Given the description of an element on the screen output the (x, y) to click on. 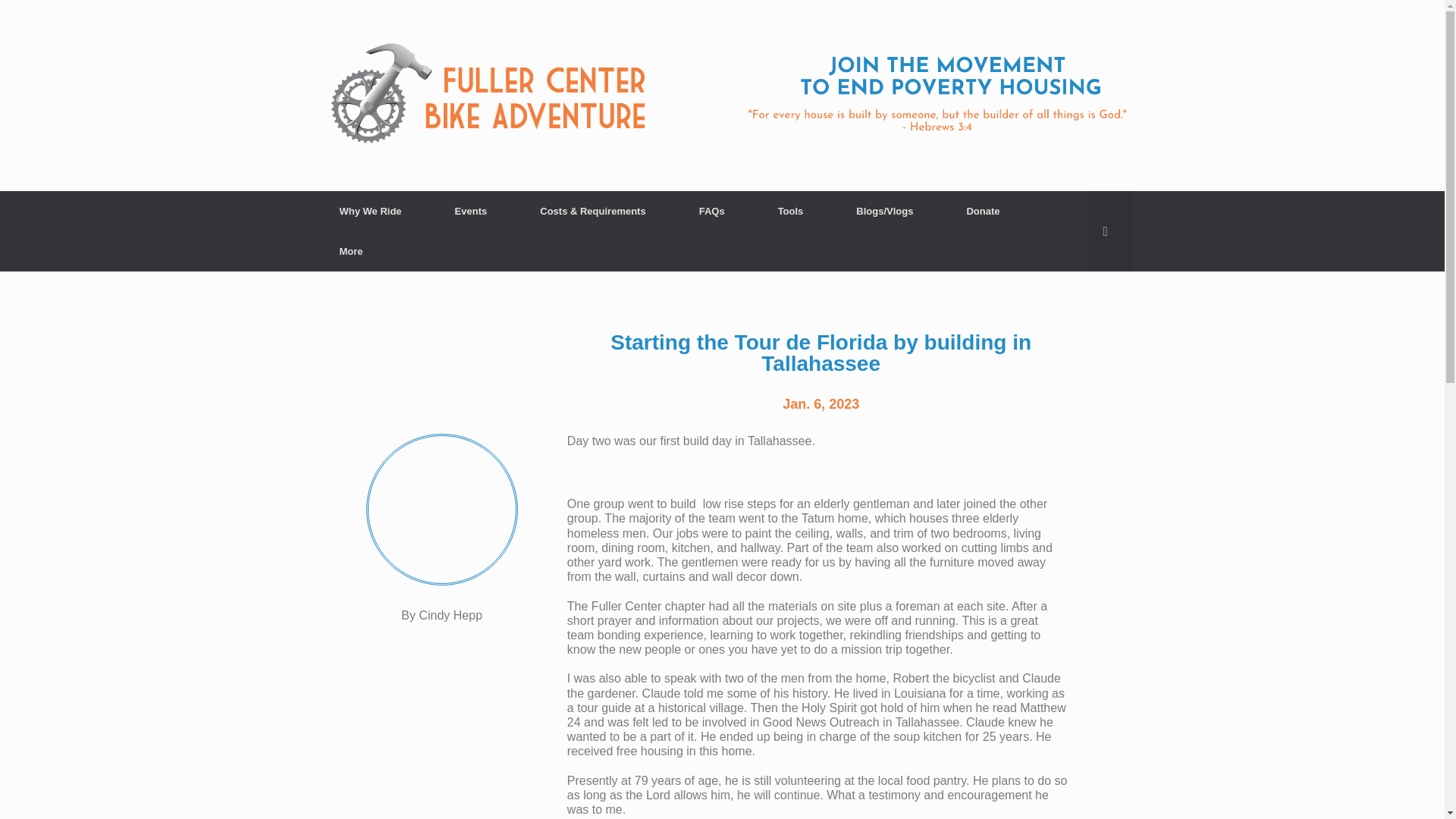
Donate (982, 210)
More (350, 250)
Events (470, 210)
Fuller Center Bike Adventure (722, 95)
Why We Ride (370, 210)
Tools (790, 210)
FAQs (711, 210)
